Given the description of an element on the screen output the (x, y) to click on. 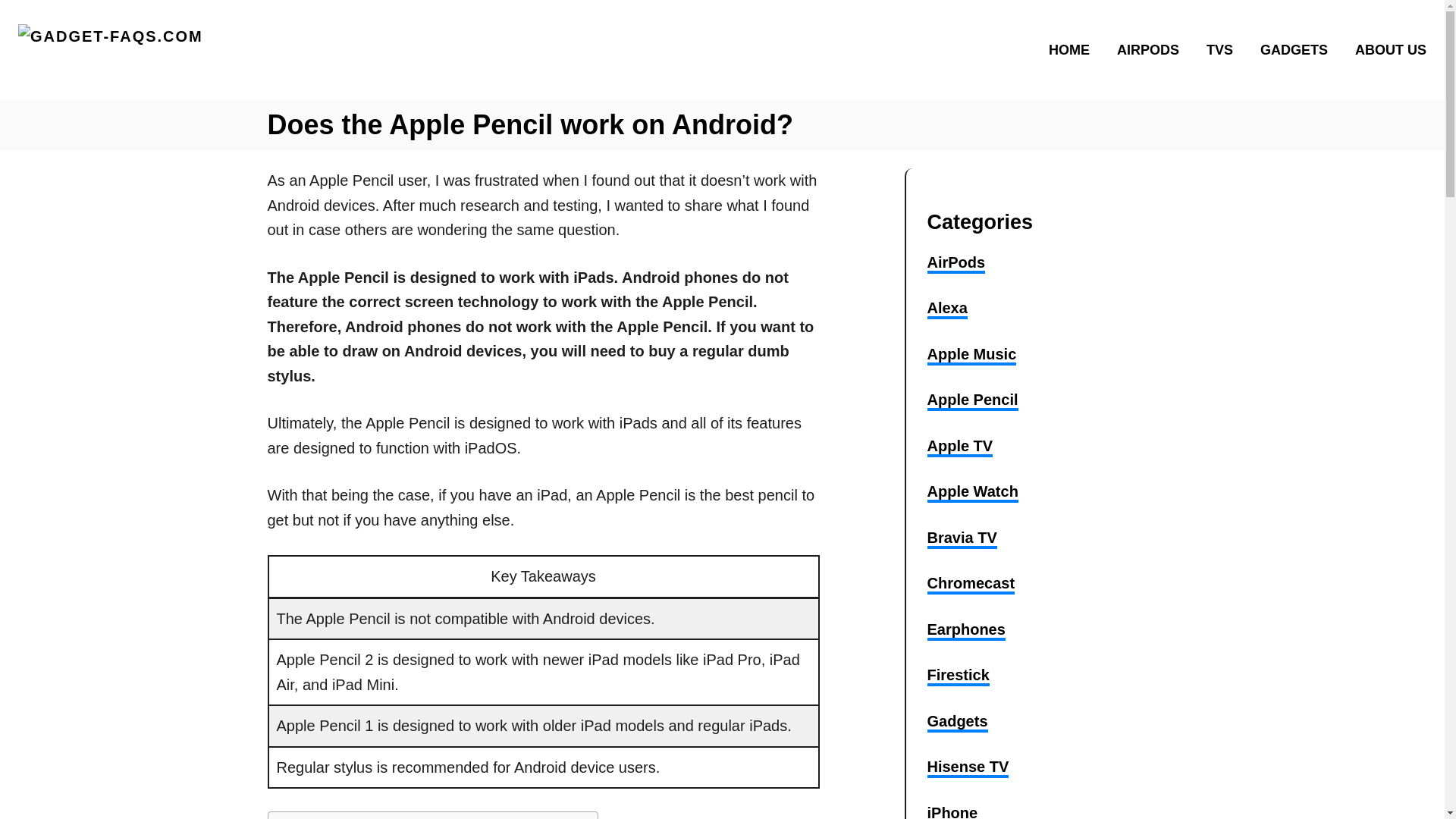
Earphones (965, 630)
Chromecast (970, 584)
AIRPODS (1152, 49)
Apple TV (959, 447)
GADGETS (1297, 49)
AirPods (955, 263)
HOME (1073, 49)
gadget-faqs.com (186, 50)
TVS (1223, 49)
Bravia TV (960, 538)
Firestick (957, 676)
Apple Watch (971, 492)
Alexa (946, 309)
Gadgets (956, 722)
Apple Music (971, 355)
